Given the description of an element on the screen output the (x, y) to click on. 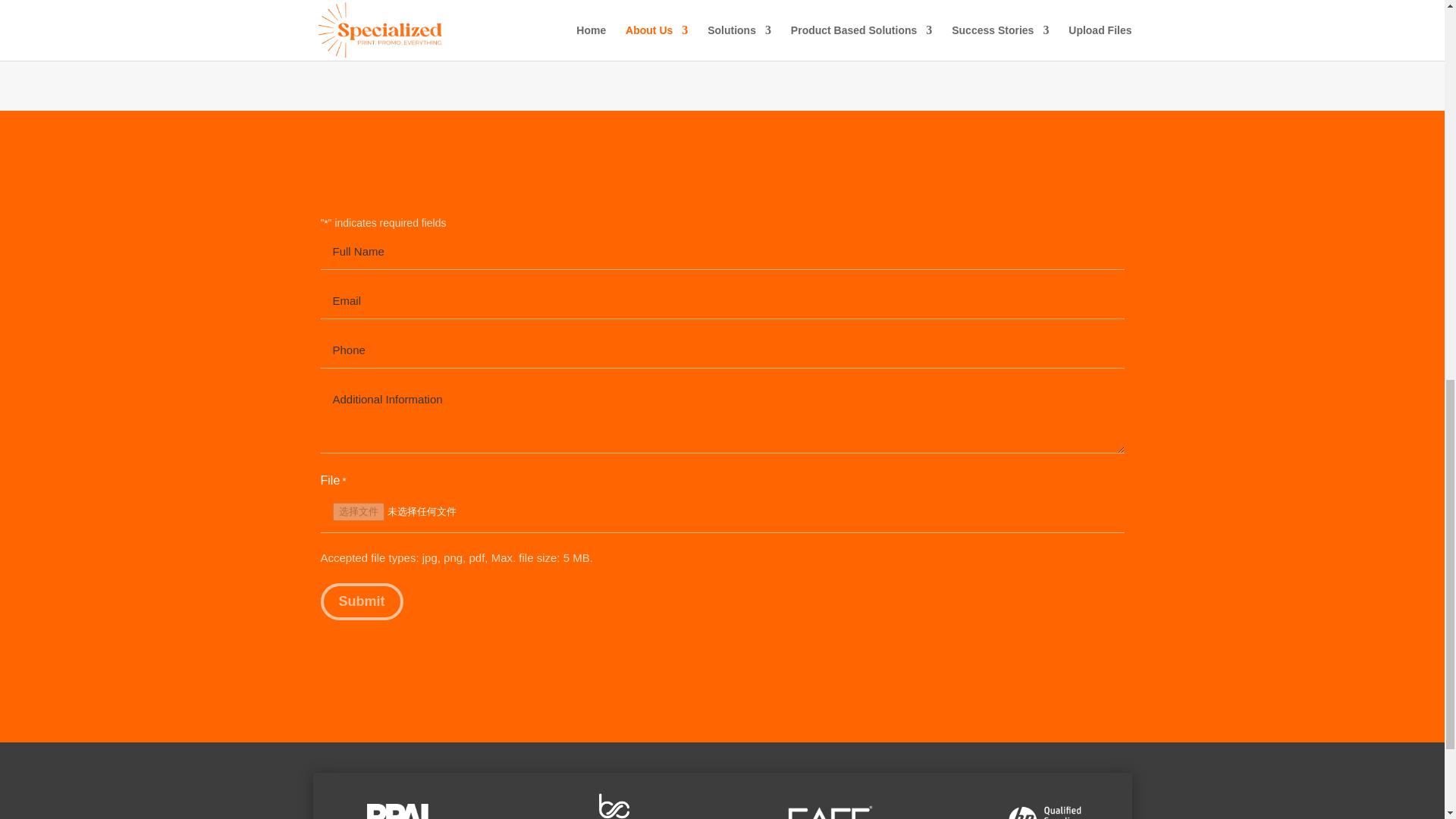
02dfasd (398, 811)
sage (830, 812)
hp (1046, 812)
Submit (361, 601)
